Given the description of an element on the screen output the (x, y) to click on. 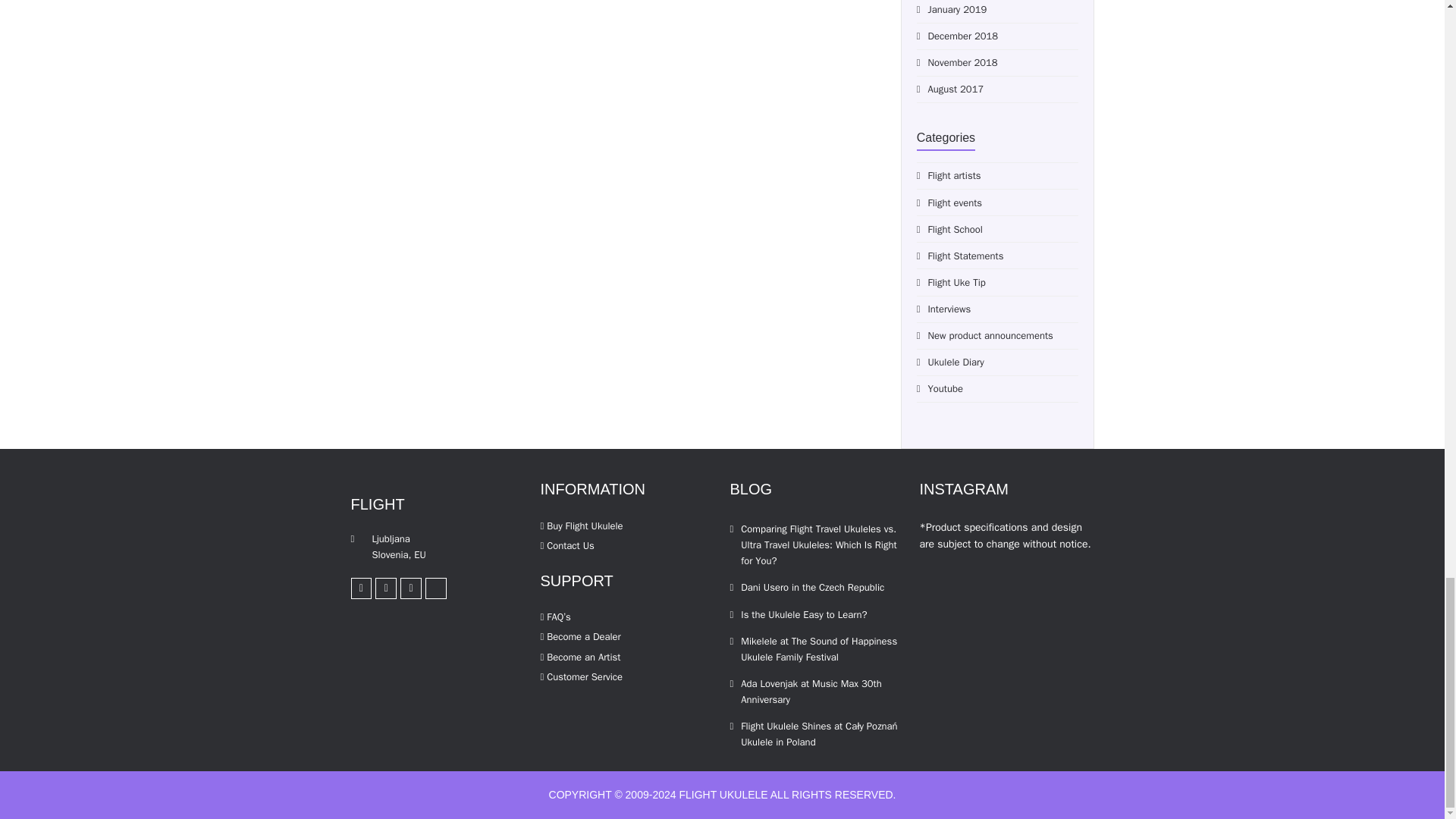
Instagram (385, 588)
TikTok (435, 588)
YouTube (411, 588)
Facebook (360, 588)
